Given the description of an element on the screen output the (x, y) to click on. 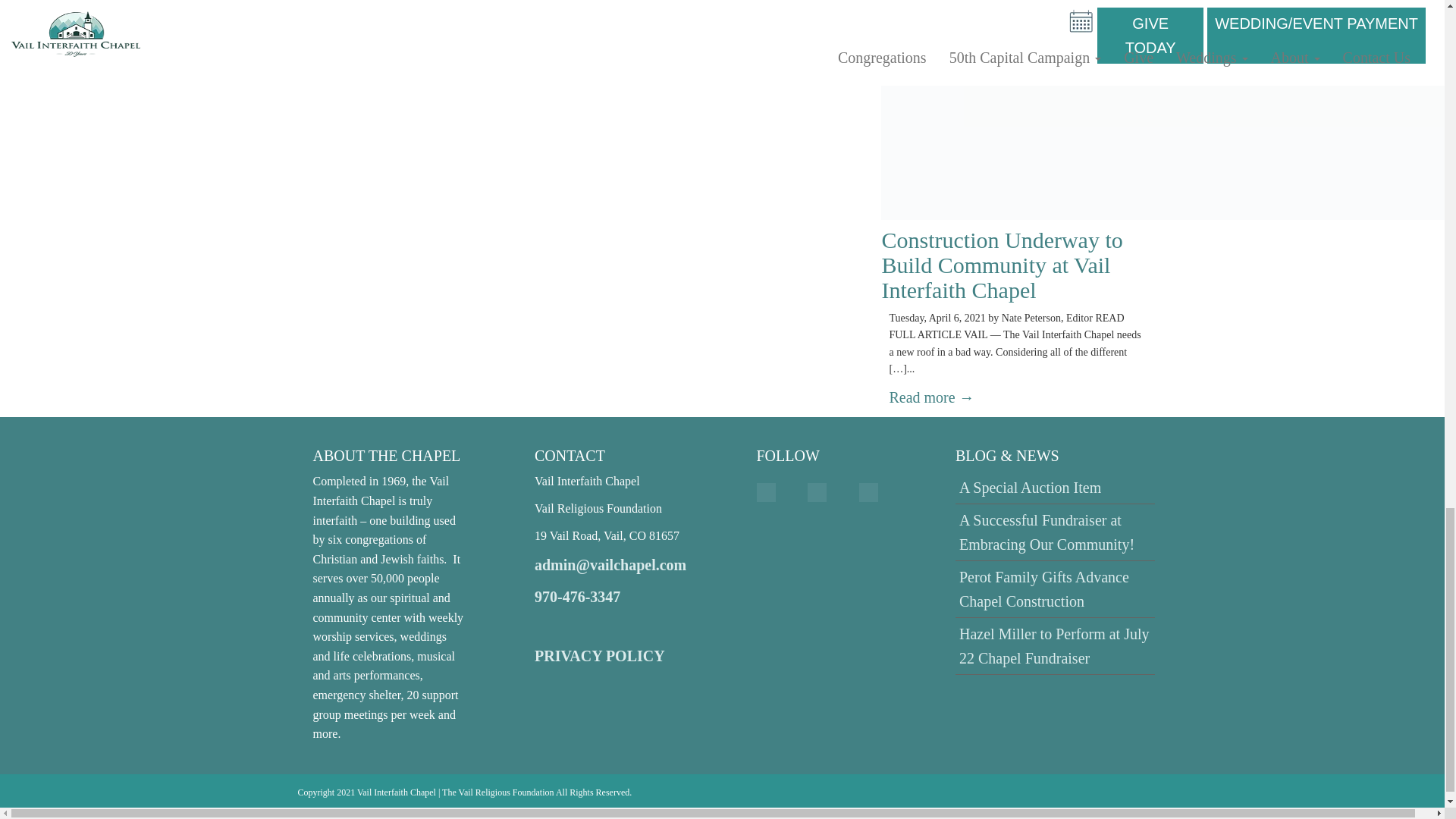
PRIVACY POLICY (599, 655)
970-476-3347 (577, 596)
Perot Family Gifts Advance Chapel Construction (1044, 588)
A Successful Fundraiser at Embracing Our Community! (1046, 531)
A Special Auction Item (1029, 487)
